Given the description of an element on the screen output the (x, y) to click on. 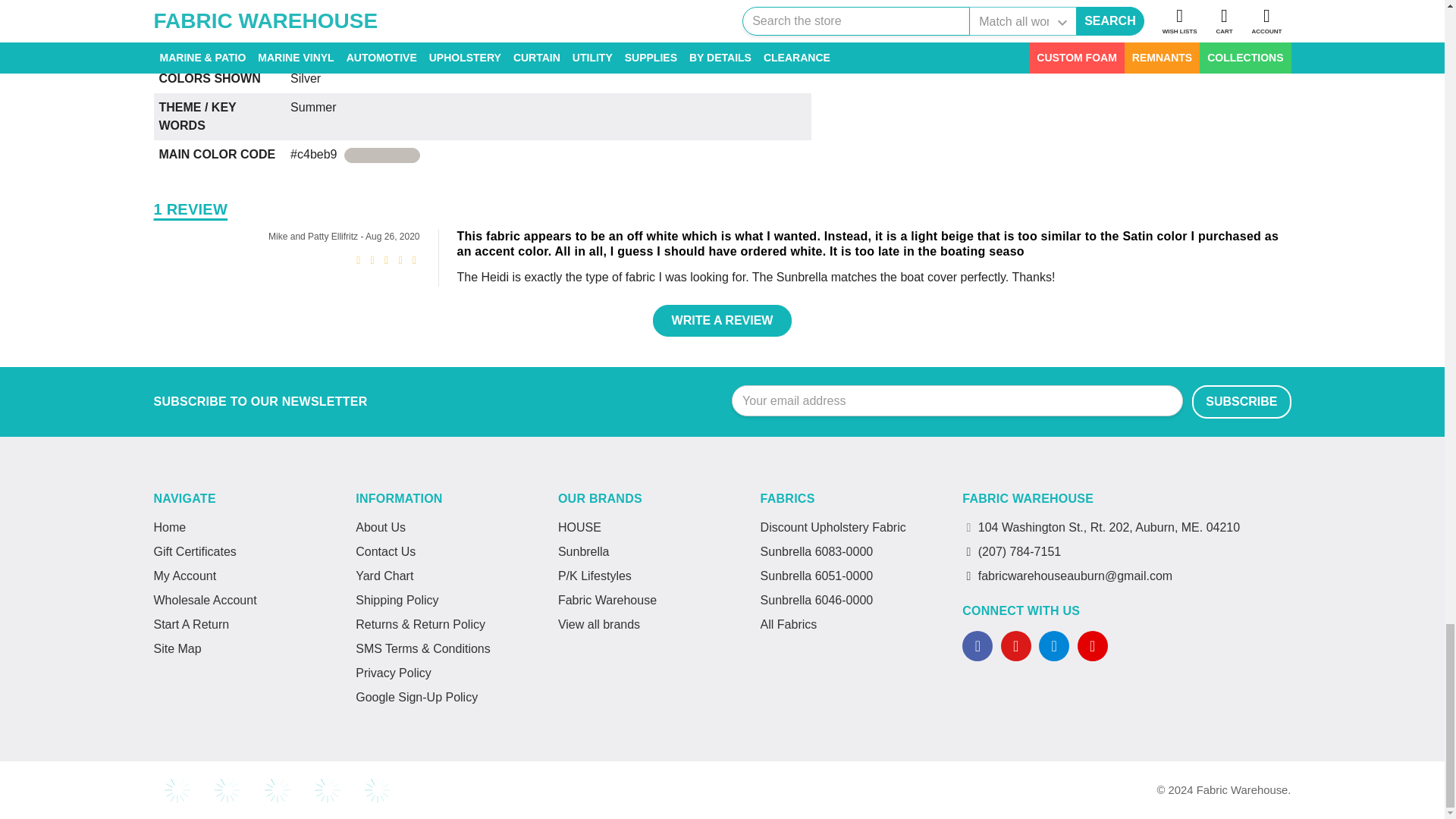
Subscribe (1241, 401)
